Given the description of an element on the screen output the (x, y) to click on. 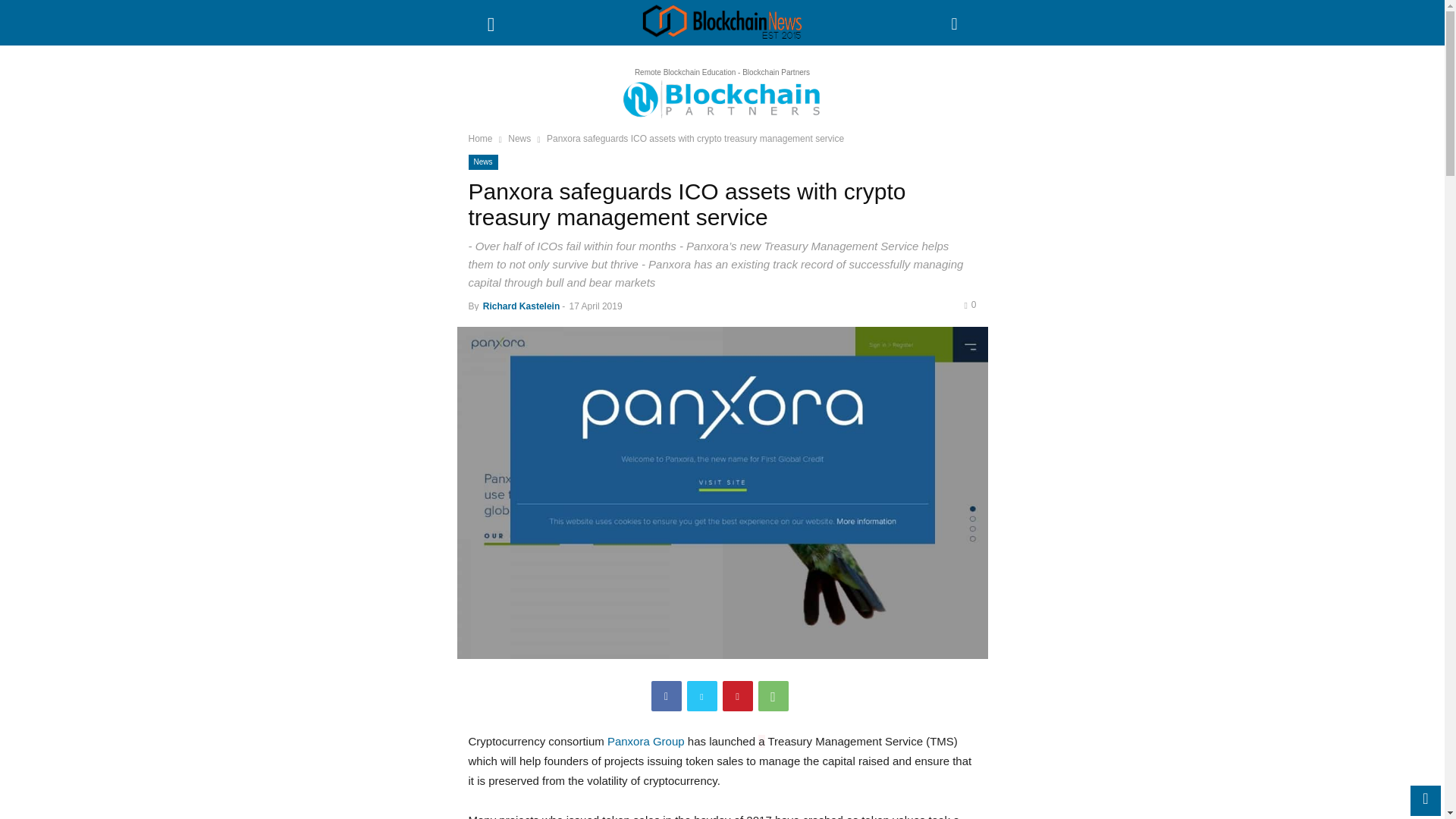
Richard Kastelein (521, 306)
News (519, 138)
Panxora Group (645, 739)
Twitter (702, 695)
0 (969, 304)
Facebook (665, 695)
Home (480, 138)
WhatsApp (773, 695)
News (482, 161)
Blockchain News, Opinion, Jobs, TV (722, 22)
View all posts in News (519, 138)
Pinterest (737, 695)
